Given the description of an element on the screen output the (x, y) to click on. 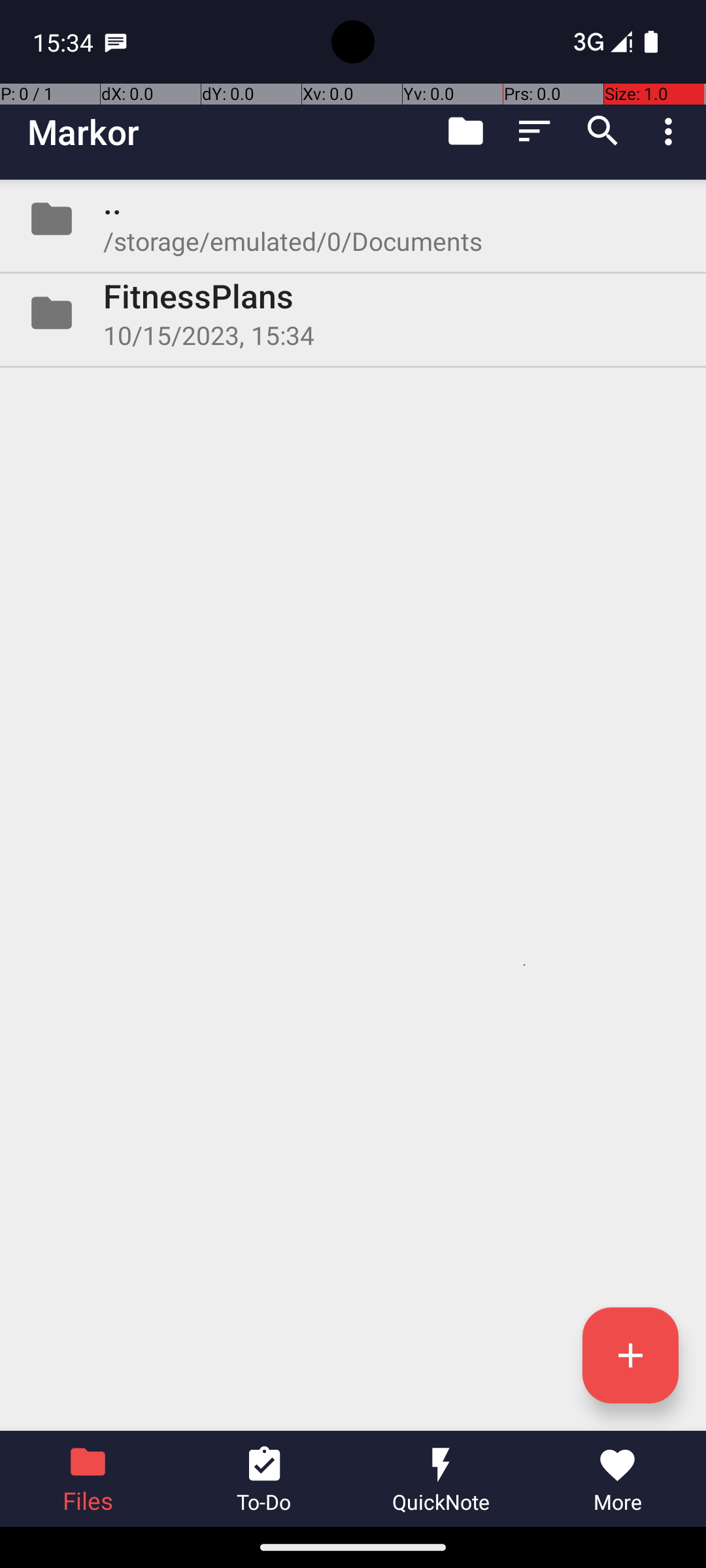
Folder .. /storage/emulated/0/Documents Element type: android.widget.LinearLayout (353, 218)
Folder FitnessPlans 10/15/2023, 15:34 Element type: android.widget.LinearLayout (353, 312)
